Given the description of an element on the screen output the (x, y) to click on. 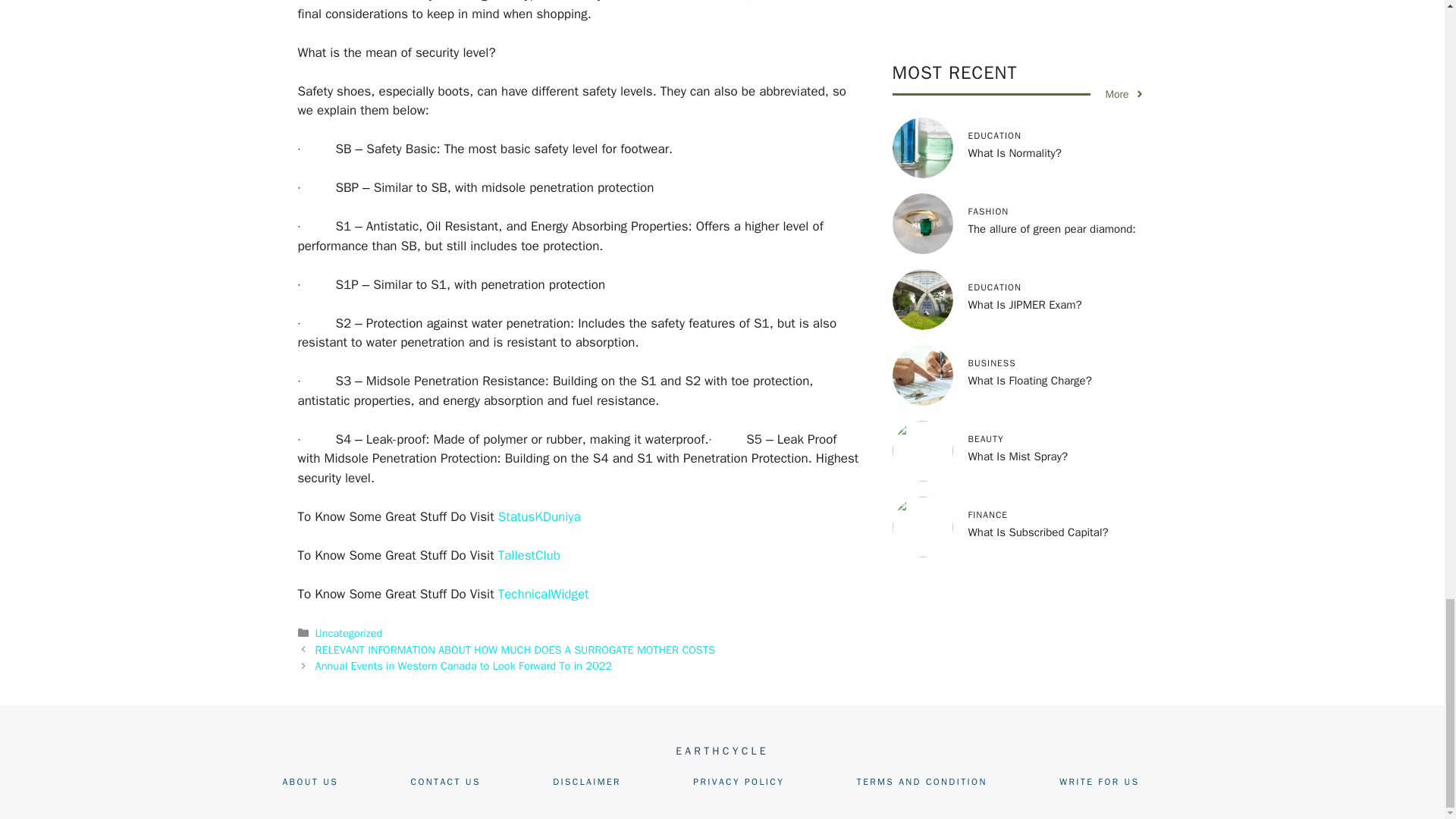
TallestClub (528, 554)
StatusKDuniya (538, 516)
TechnicalWidget (543, 593)
Uncategorized (348, 632)
Annual Events in Western Canada to Look Forward To in 2022 (463, 665)
